Given the description of an element on the screen output the (x, y) to click on. 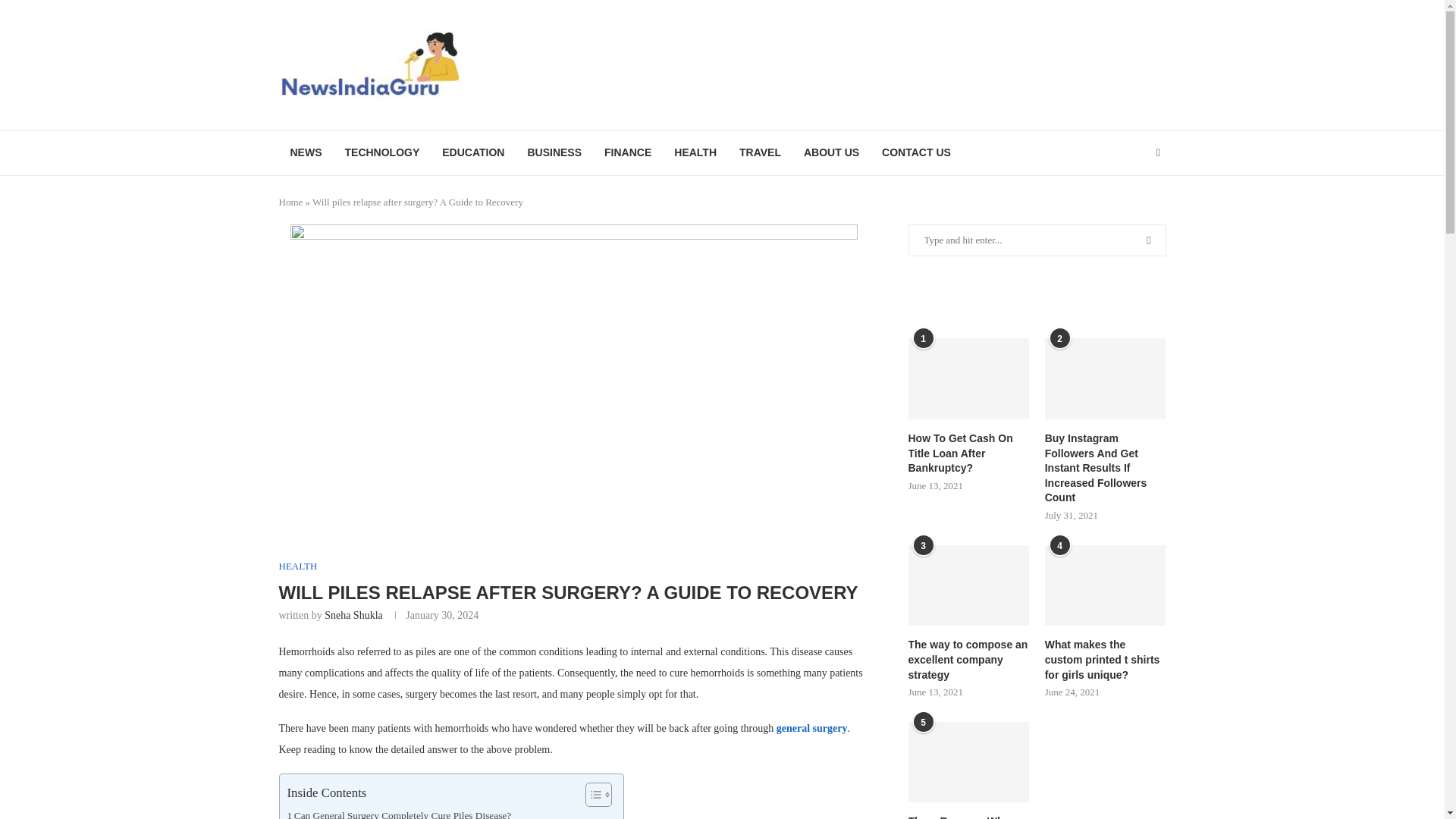
BUSINESS (553, 153)
TECHNOLOGY (381, 153)
Sneha Shukla (353, 614)
HEALTH (695, 153)
ABOUT US (831, 153)
HEALTH (298, 566)
NEWS (306, 153)
CONTACT US (916, 153)
Home (290, 202)
TRAVEL (760, 153)
Can General Surgery Completely Cure Piles Disease? (398, 813)
general surgery (810, 727)
FINANCE (627, 153)
Can General Surgery Completely Cure Piles Disease? (398, 813)
